Given the description of an element on the screen output the (x, y) to click on. 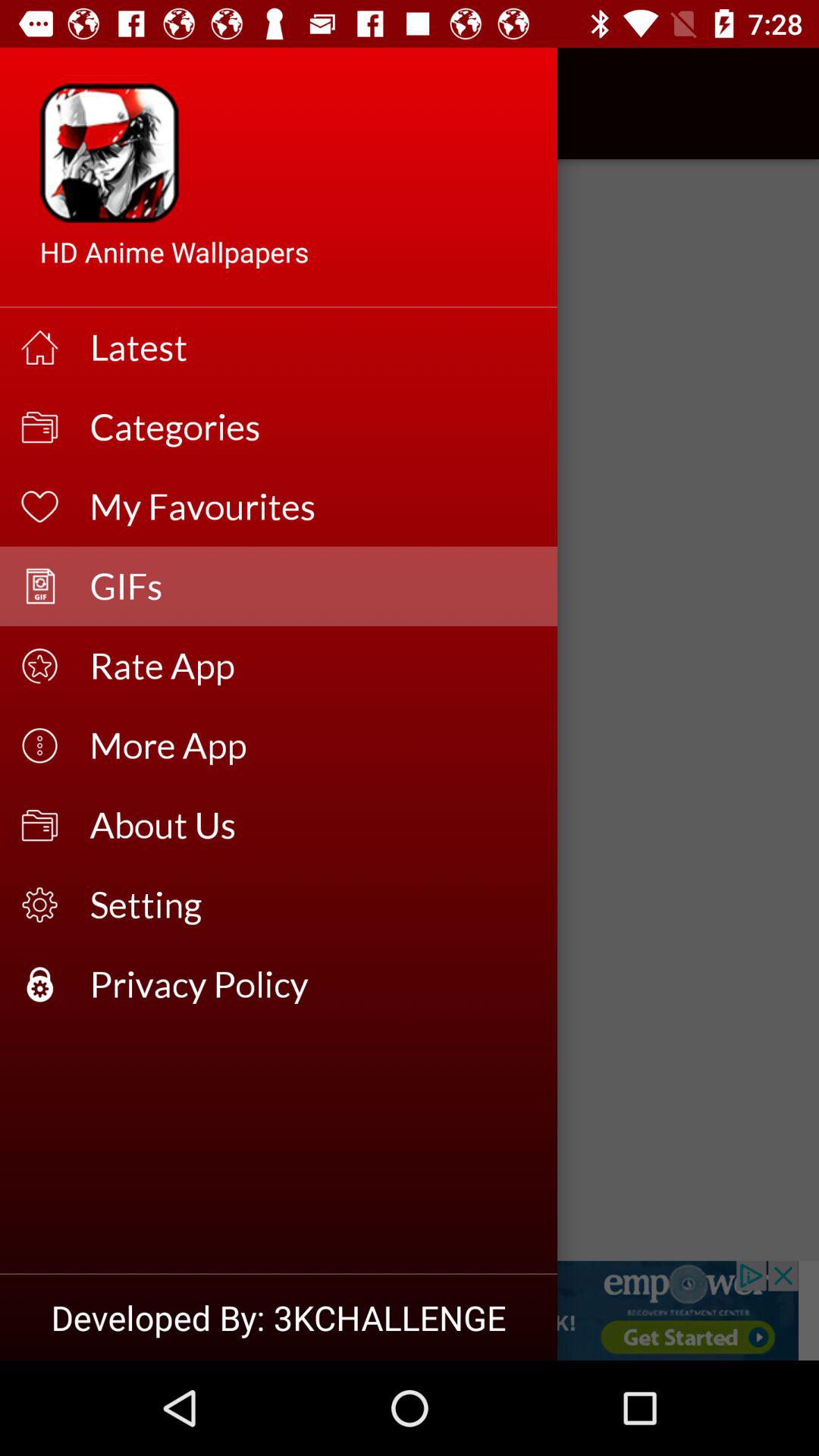
launch the my favourites icon (313, 506)
